Given the description of an element on the screen output the (x, y) to click on. 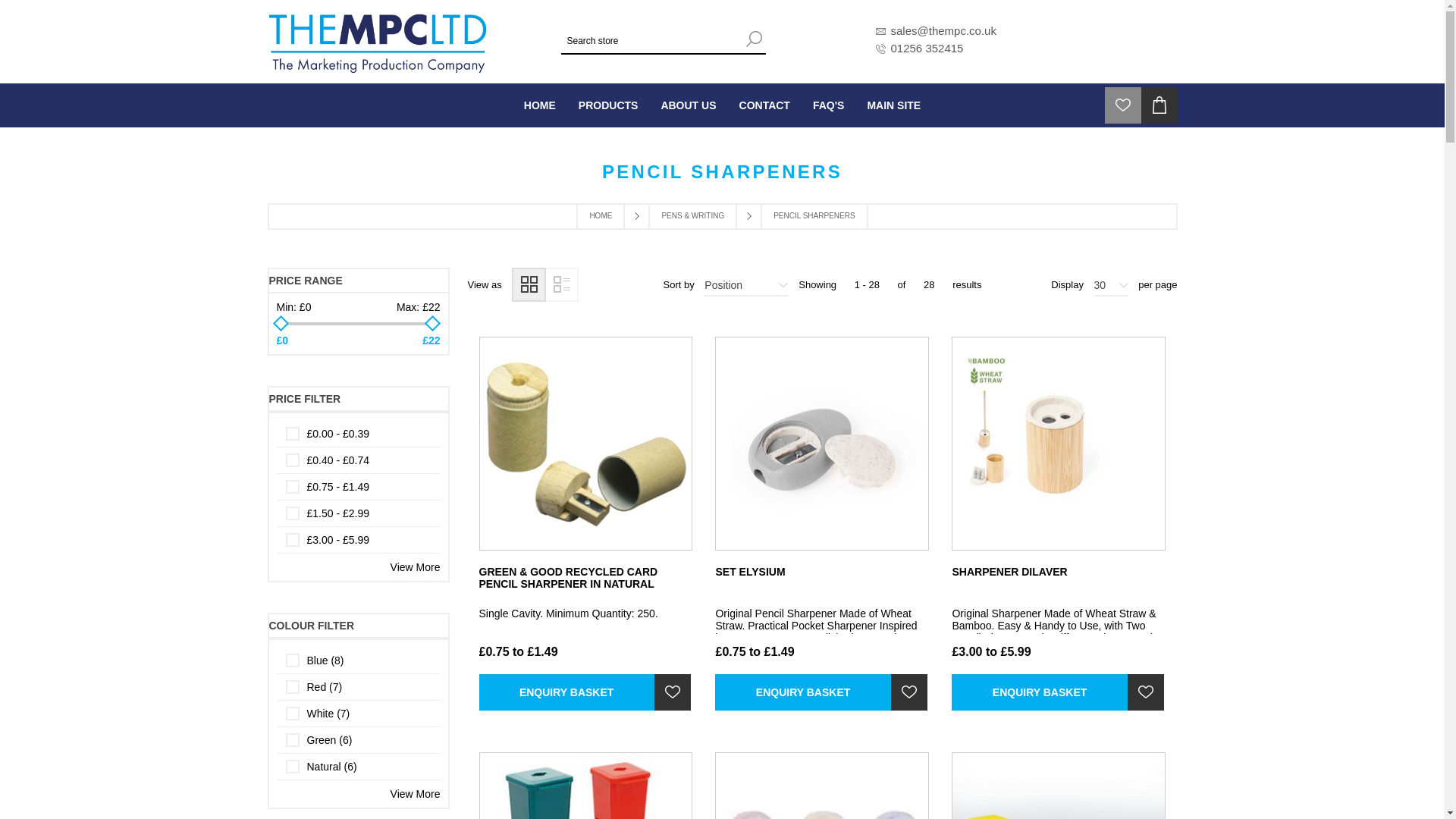
THEMPCLTD (376, 41)
Search (753, 38)
Add to Ideas List (671, 692)
MAIN SITE (893, 105)
Add to Ideas List (1144, 692)
Home (539, 105)
Search (753, 38)
CONTACT (765, 105)
FAQ'S (829, 105)
ABOUT US (687, 105)
Add to Ideas List (909, 692)
Enquiry Basket (801, 692)
Enquiry Basket (566, 692)
Search (753, 38)
01256 352415 (925, 47)
